Given the description of an element on the screen output the (x, y) to click on. 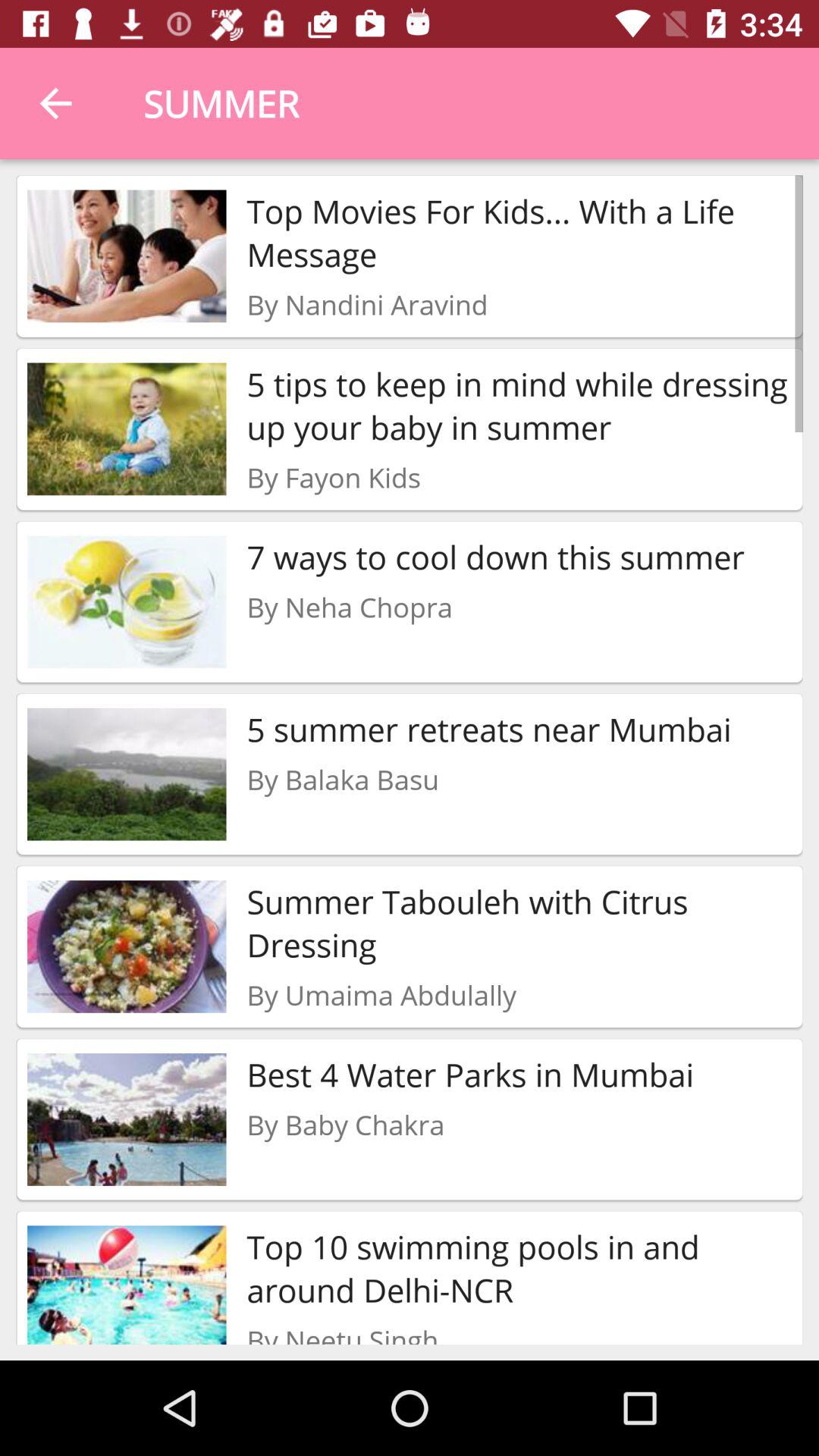
turn on item above the summer tabouleh with item (342, 778)
